Given the description of an element on the screen output the (x, y) to click on. 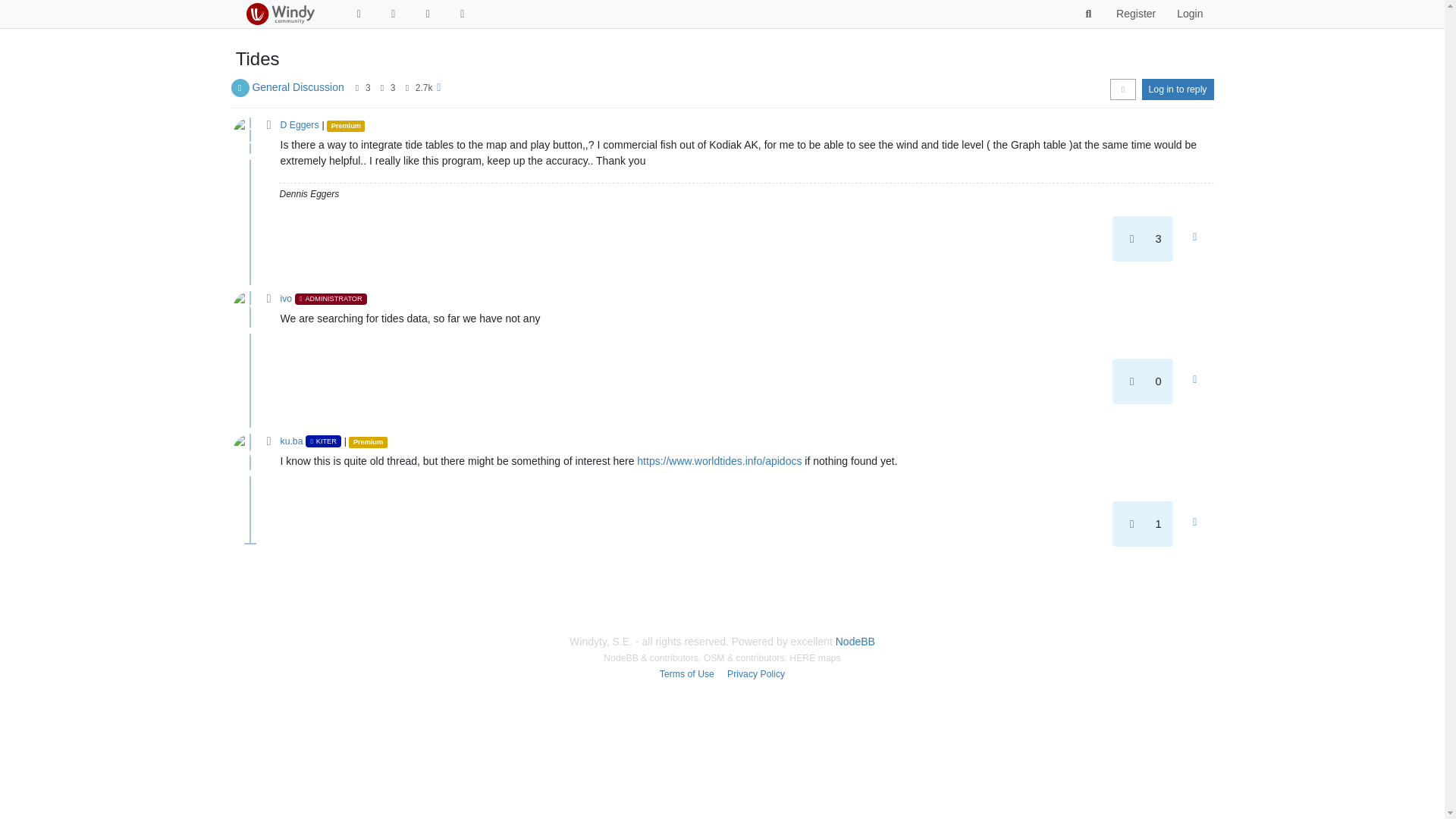
Search (1088, 14)
General Discussion (297, 87)
Unread (357, 13)
Sort by (1122, 88)
Groups (427, 13)
Register (1135, 13)
ivo (286, 298)
Windy Community (279, 13)
Login (1189, 13)
3 (393, 87)
Views (406, 87)
2720 (423, 87)
Categories (392, 13)
ADMINISTRATOR (330, 298)
Log in to reply (1177, 88)
